Given the description of an element on the screen output the (x, y) to click on. 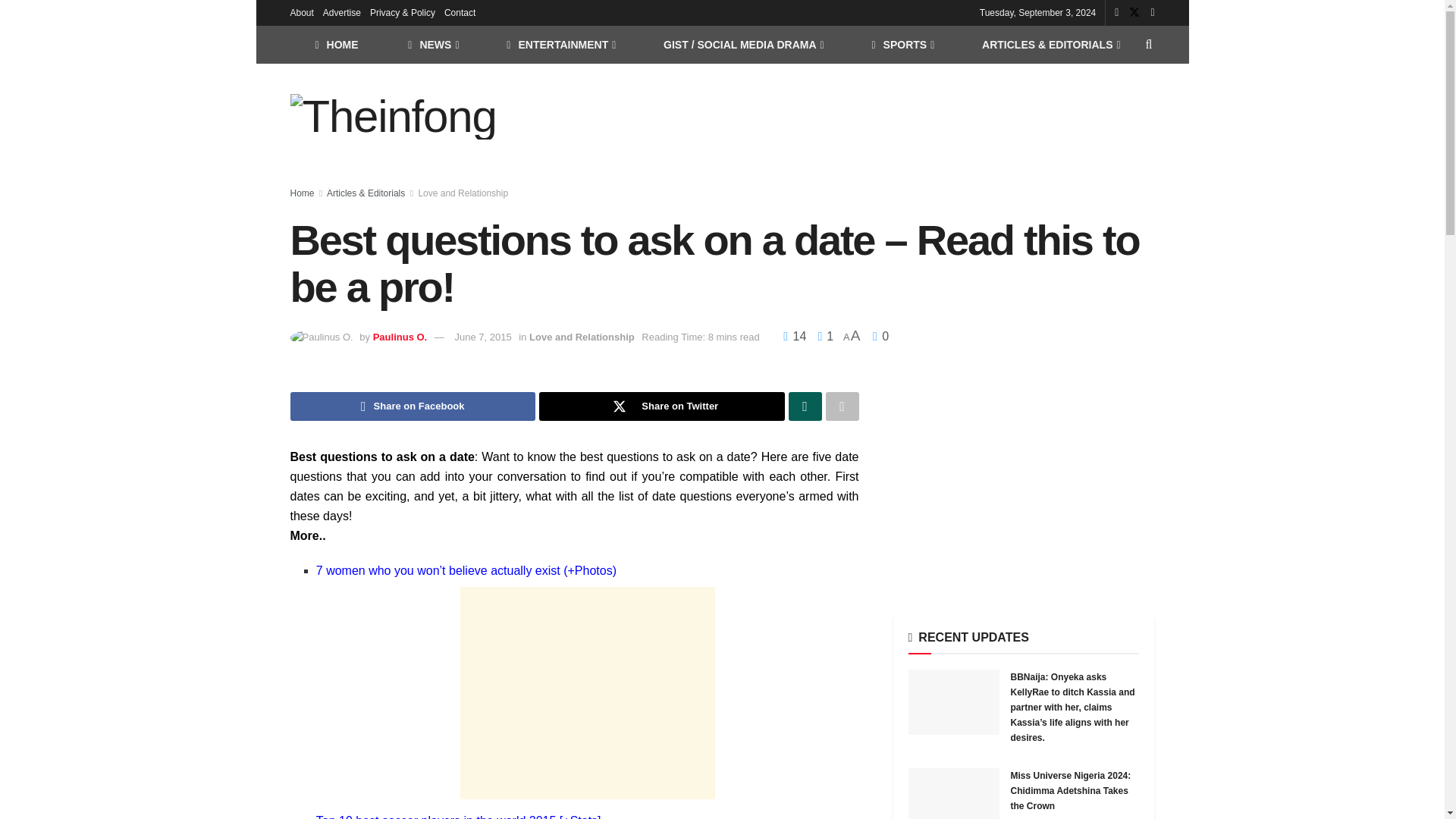
Contact (460, 12)
Advertise (342, 12)
NEWS (431, 44)
Sport (902, 44)
HOME (335, 44)
About (301, 12)
ENTERTAINMENT (560, 44)
